Given the description of an element on the screen output the (x, y) to click on. 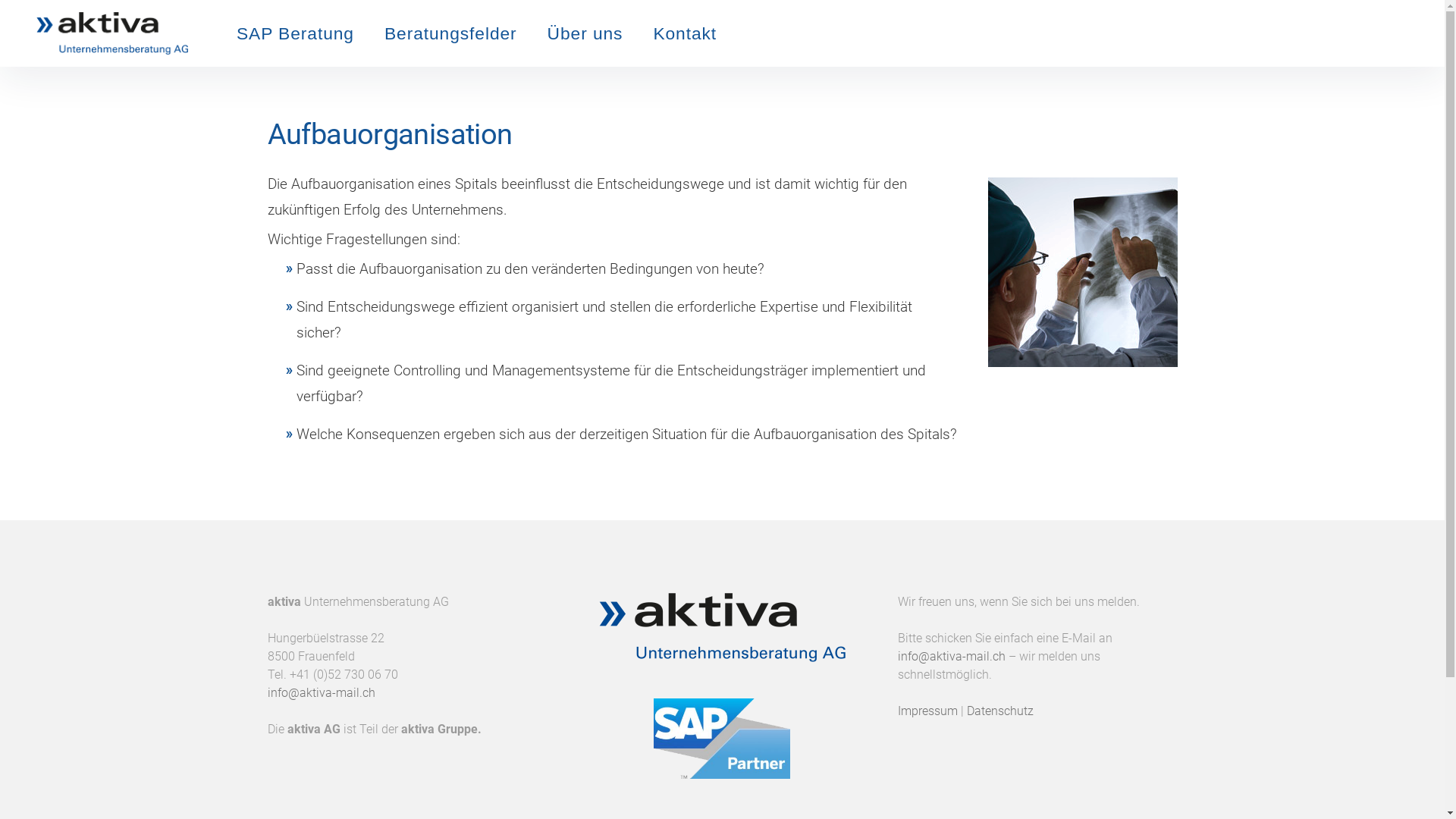
aktiva Unternehmensberatung AG Element type: text (189, 33)
Kontakt Element type: text (684, 33)
Beratungsfelder Element type: text (450, 33)
SAP Beratung Element type: text (295, 33)
info@aktiva-mail.ch Element type: text (320, 692)
Impressum Element type: text (927, 710)
Datenschutz Element type: text (999, 710)
info@aktiva-mail.ch Element type: text (951, 656)
Aufbauorganisation Element type: hover (1081, 272)
